Given the description of an element on the screen output the (x, y) to click on. 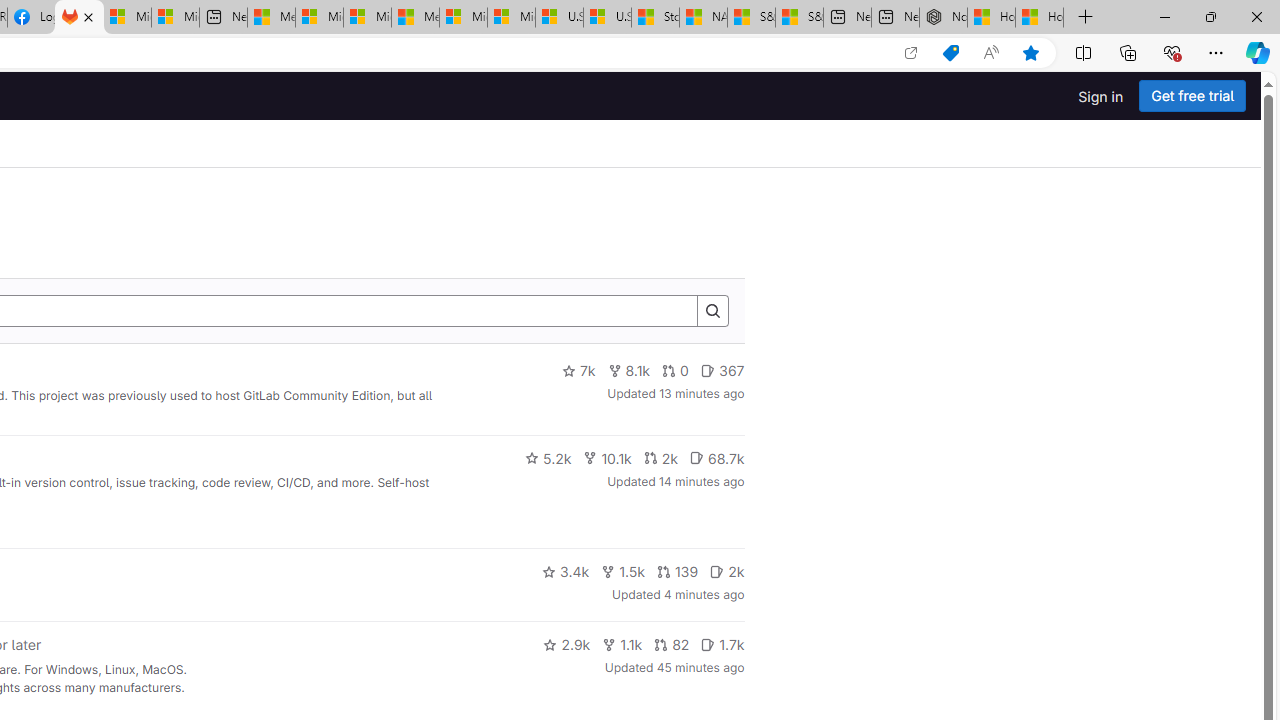
1.5k (623, 571)
Class: s14 gl-mr-2 (708, 644)
Search (712, 311)
3.4k (565, 571)
Open in app (910, 53)
S&P 500, Nasdaq end lower, weighed by Nvidia dip | Watch (799, 17)
1.7k (722, 644)
